Given the description of an element on the screen output the (x, y) to click on. 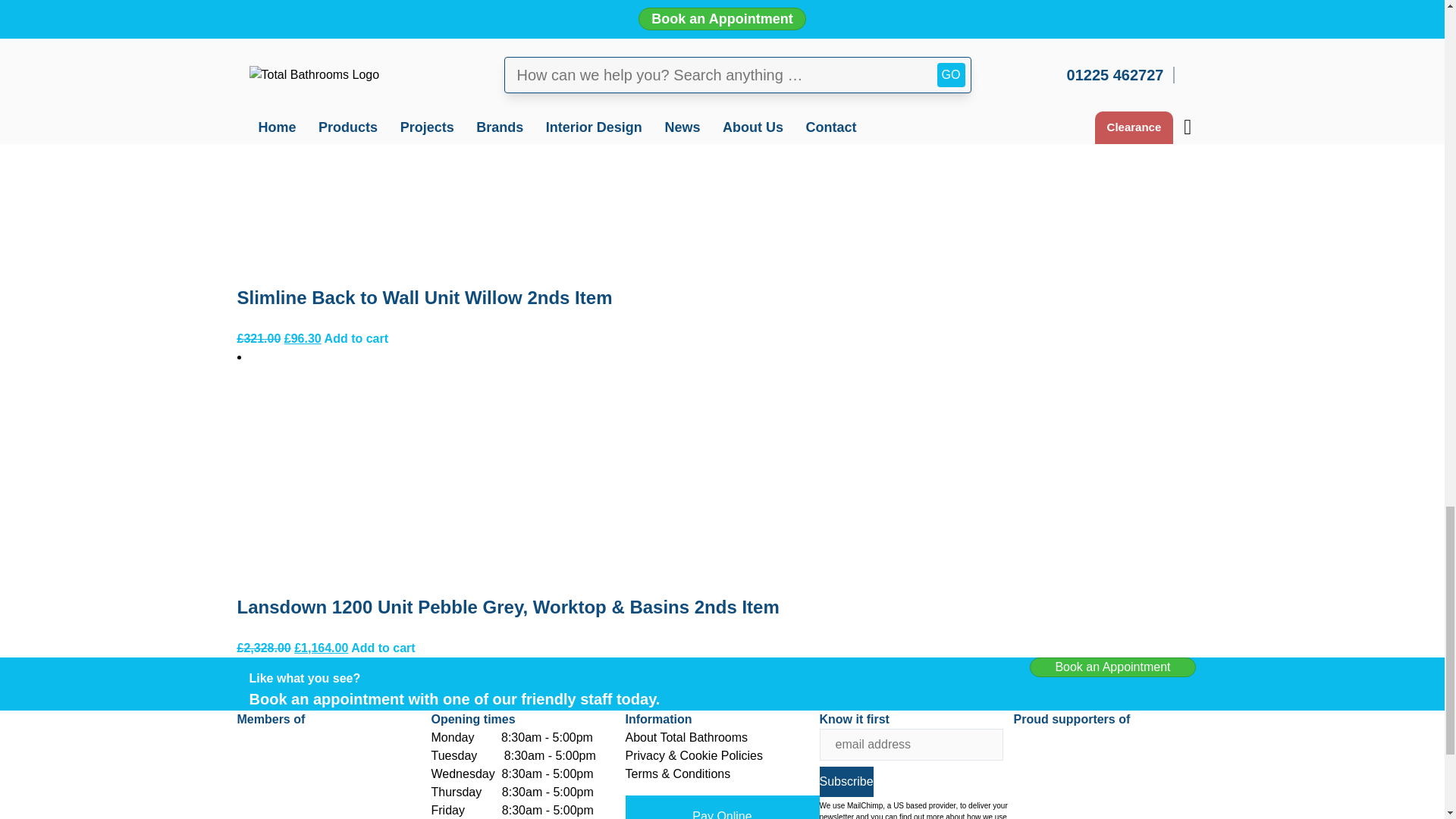
Subscribe (845, 781)
